Given the description of an element on the screen output the (x, y) to click on. 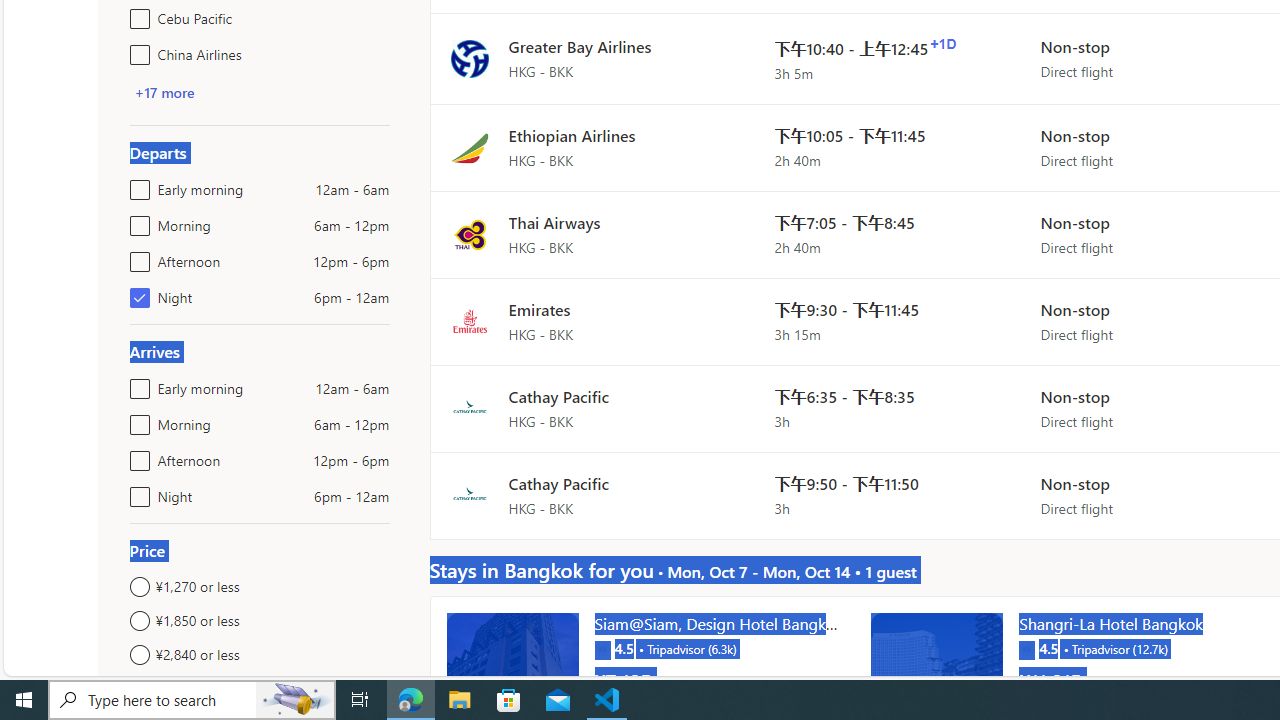
Early morning12am - 6am (136, 384)
Afternoon12pm - 6pm (136, 456)
Cebu Pacific (136, 14)
Tripadvisor (1026, 648)
+17 more (164, 92)
Morning6am - 12pm (136, 420)
Night6pm - 12am (136, 492)
China Airlines (136, 50)
Any price (259, 688)
Flight logo (469, 494)
